Given the description of an element on the screen output the (x, y) to click on. 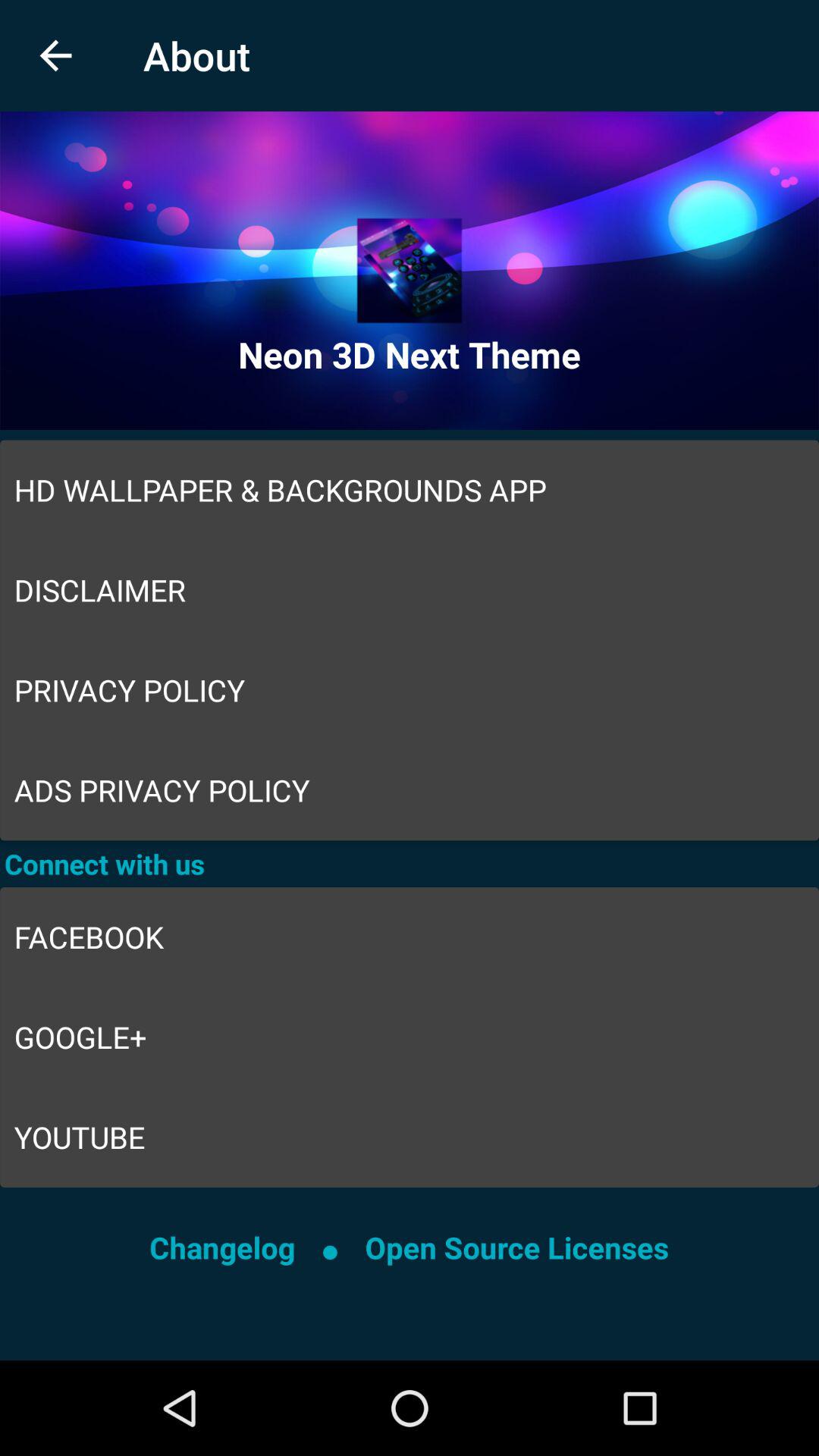
tap the item below connect with us icon (409, 937)
